Given the description of an element on the screen output the (x, y) to click on. 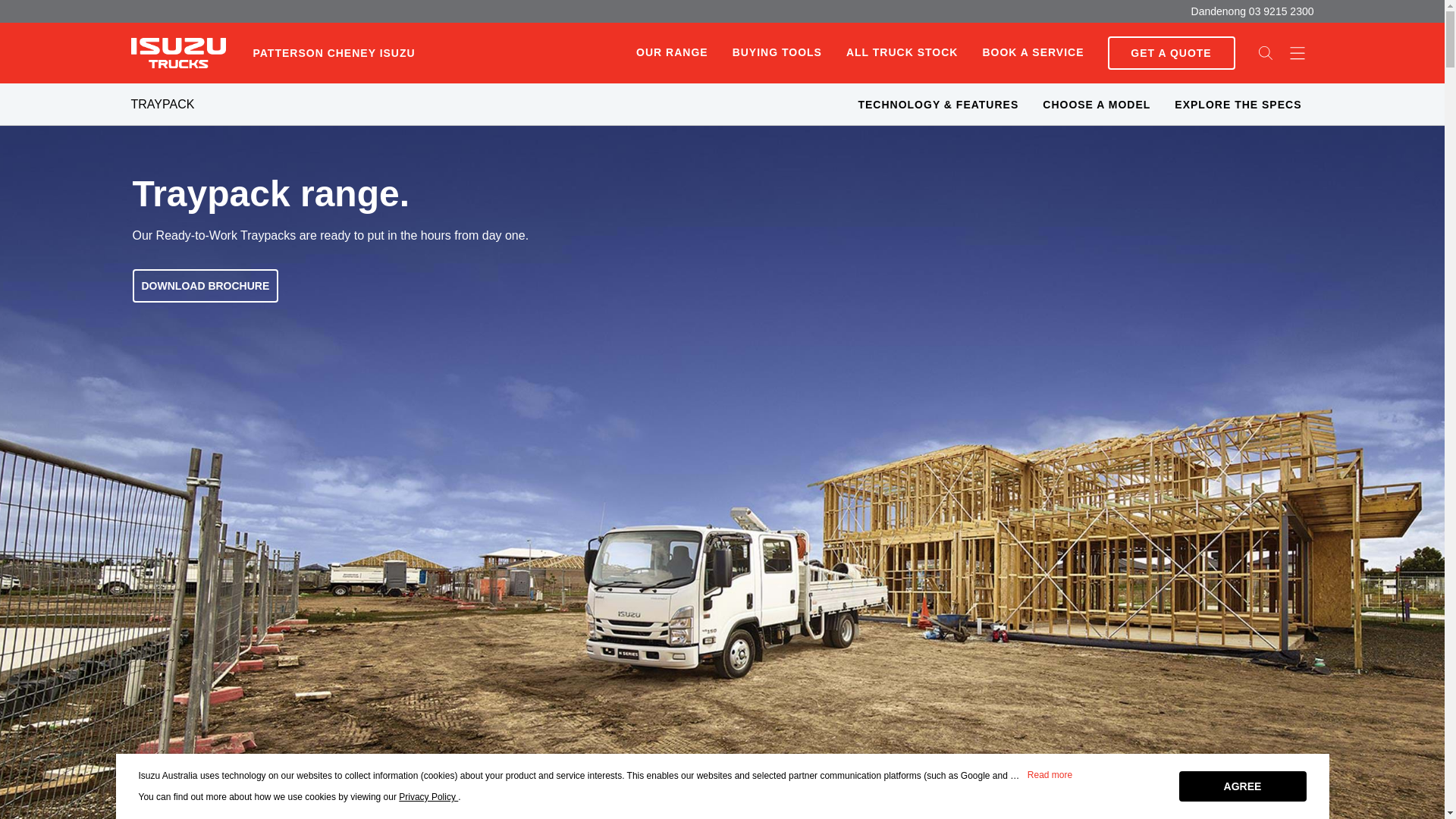
GET A QUOTE (1170, 52)
03 9215 2300 (1281, 10)
CHOOSE A MODEL (1095, 104)
OUR RANGE (672, 52)
EXPLORE THE SPECS (1237, 104)
BOOK A SERVICE (1032, 53)
ALL TRUCK STOCK (901, 53)
BUYING TOOLS (777, 53)
TRAYPACK (162, 104)
